Given the description of an element on the screen output the (x, y) to click on. 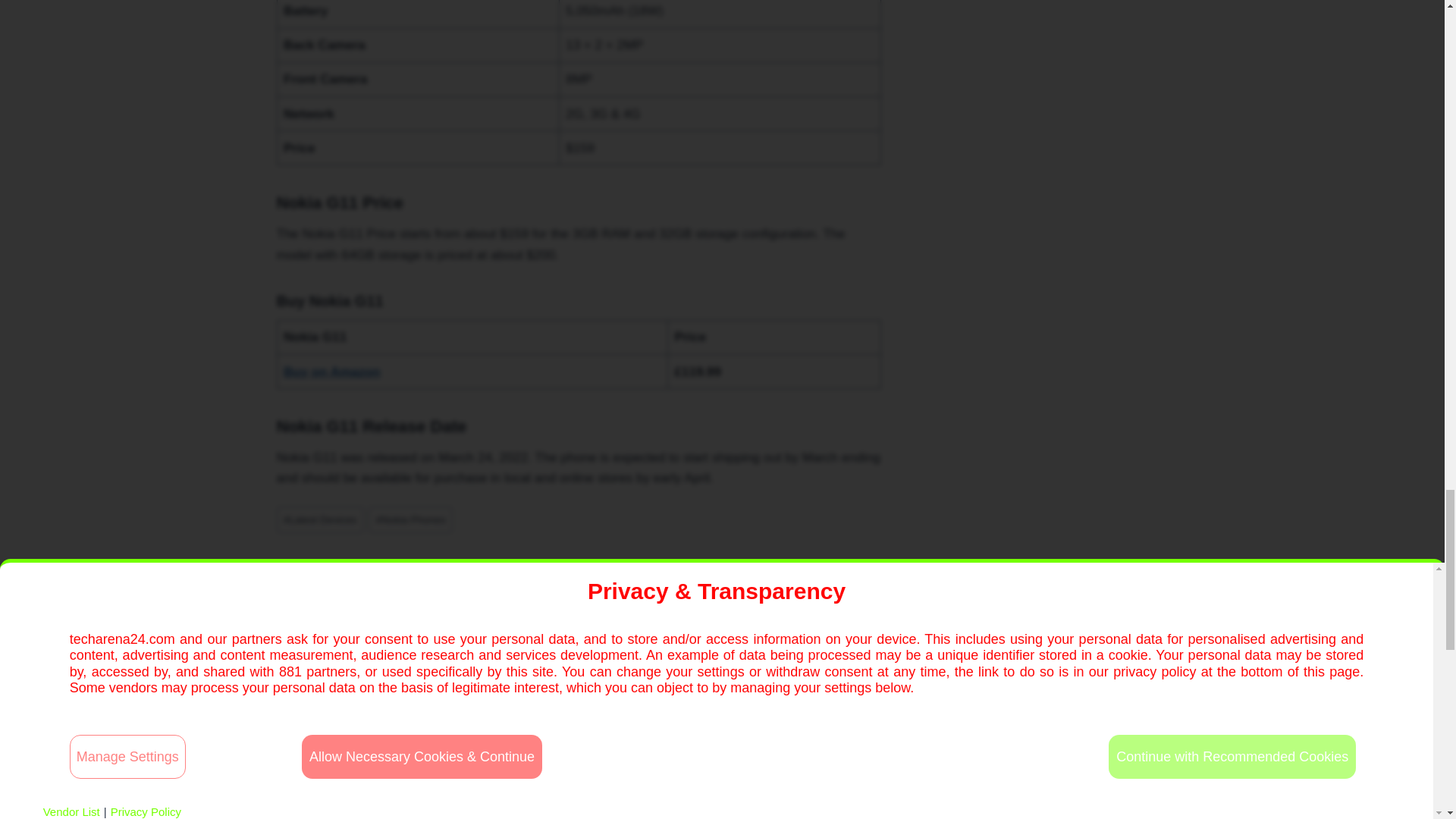
Follow Firstayo on Youtube (622, 757)
Follow Firstayo on X formerly Twitter (563, 757)
Follow Firstayo on Facebook (534, 757)
Follow Firstayo on Instagram (593, 757)
Posts by Firstayo (578, 644)
Nokia Phones (410, 519)
Latest Devices (319, 519)
